Given the description of an element on the screen output the (x, y) to click on. 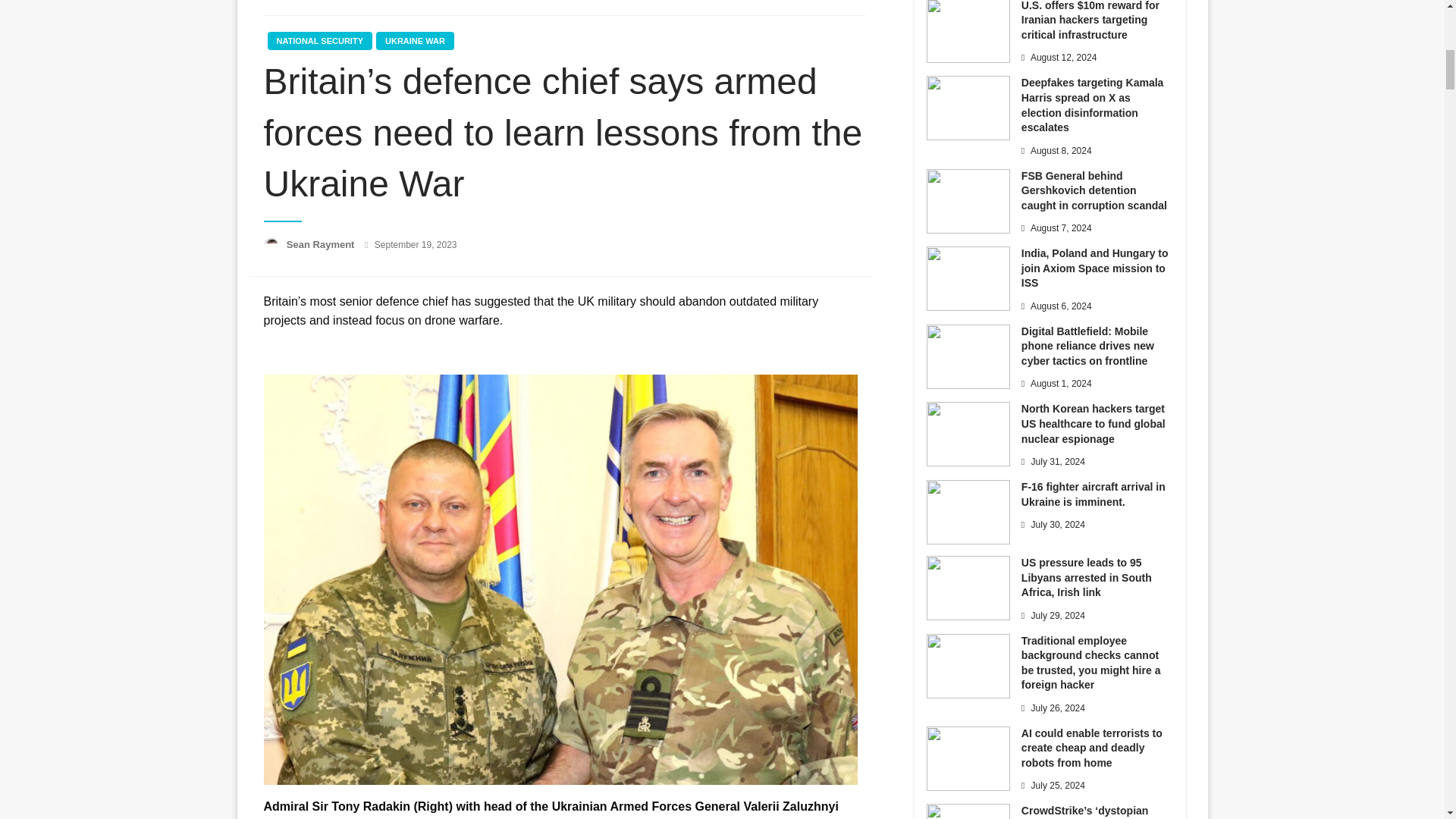
Sean Rayment (321, 244)
Homepage (287, 0)
